Given the description of an element on the screen output the (x, y) to click on. 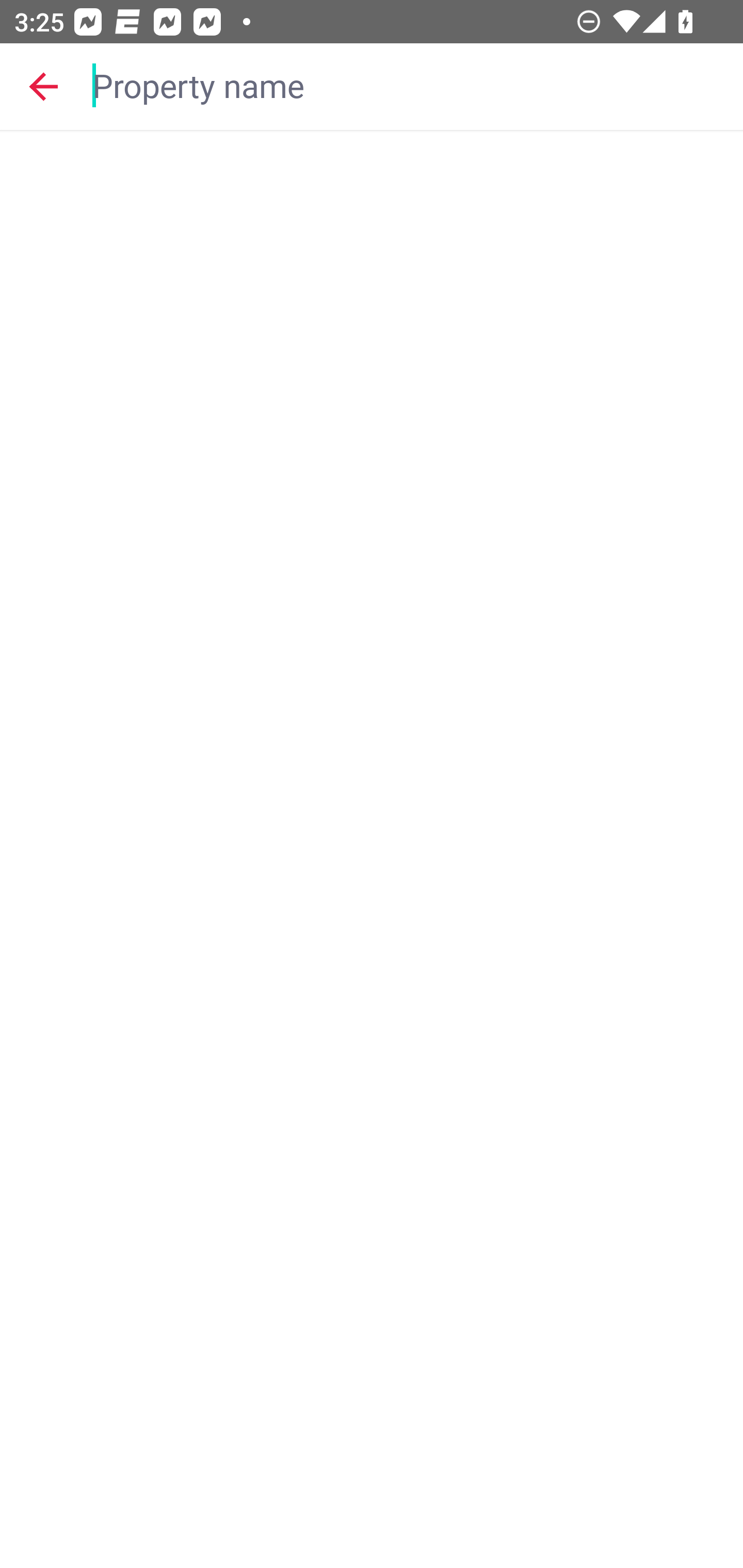
Property name,  (407, 85)
Back to search screen (43, 86)
